Given the description of an element on the screen output the (x, y) to click on. 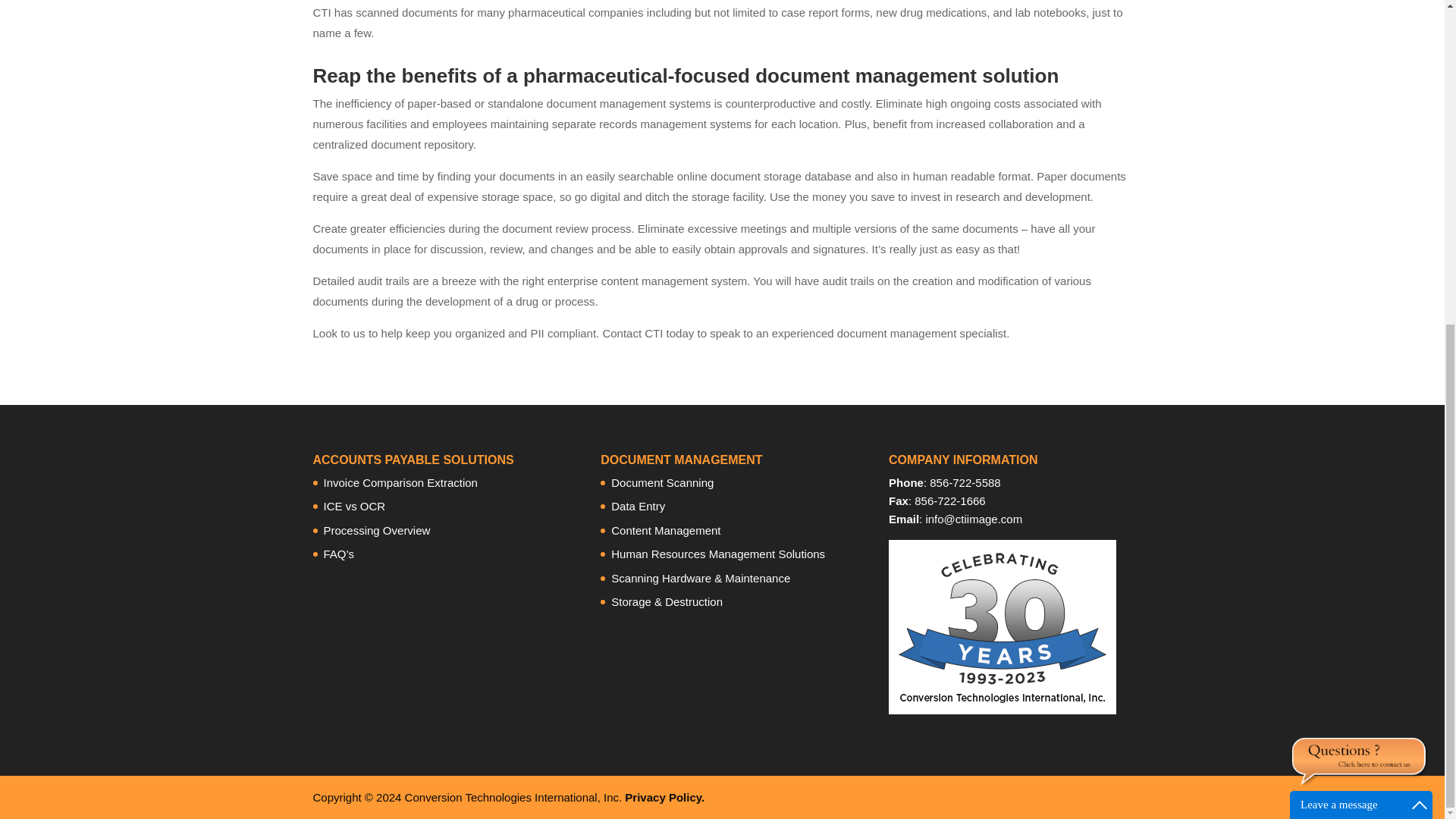
Maximize (1419, 275)
